Given the description of an element on the screen output the (x, y) to click on. 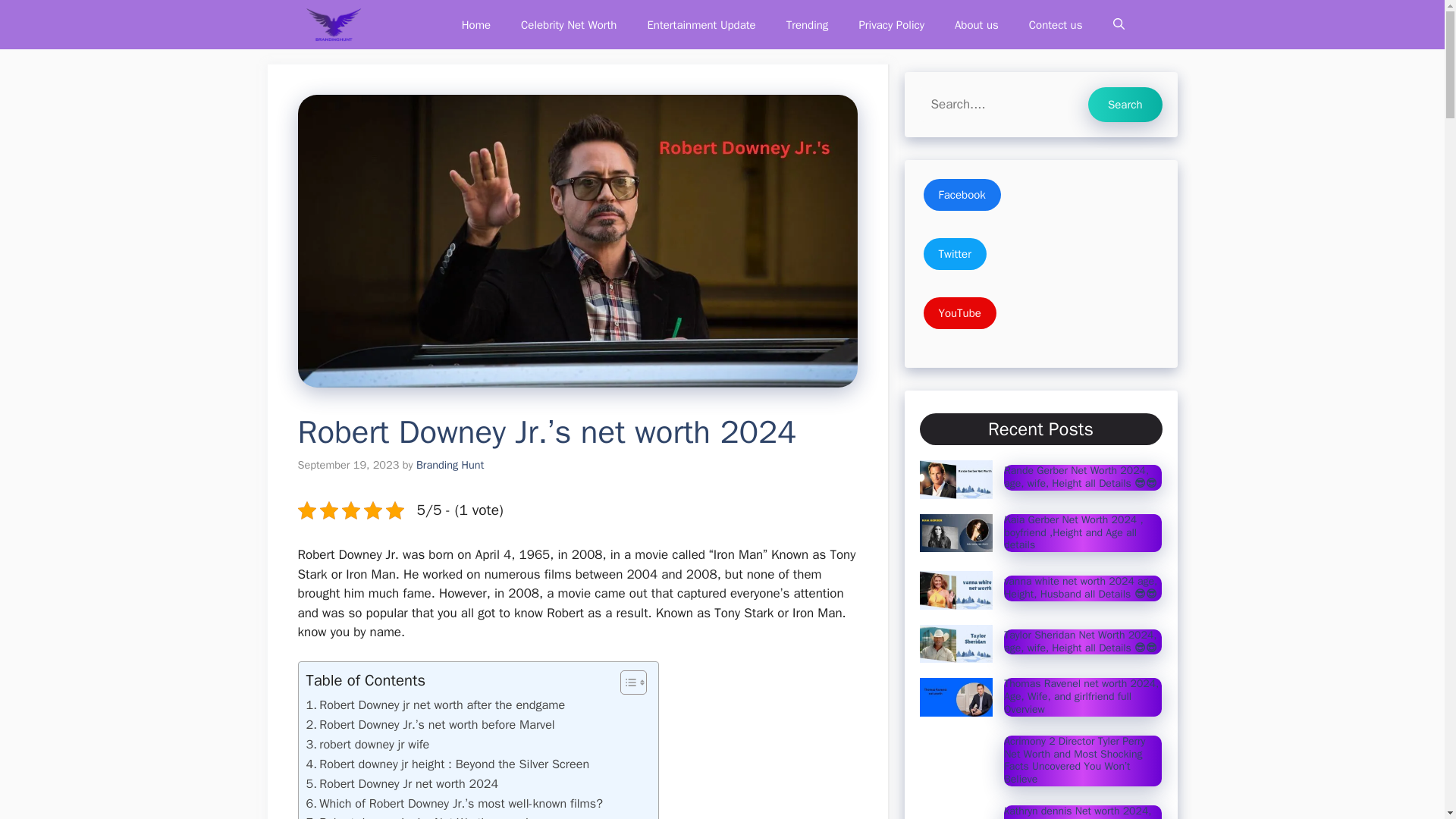
robert downey jr wife (367, 744)
Celebrity Net Worth (568, 23)
Home (475, 23)
Branding Hunt (332, 24)
Branding Hunt (449, 464)
Contect us (1055, 23)
Entertainment Update (700, 23)
Robert downey jr height : Beyond the Silver Screen (447, 763)
robert downey jr wife (367, 744)
Privacy Policy (891, 23)
Robert downey jr height : Beyond the Silver Screen (447, 763)
Trending (807, 23)
Robert Downey jr net worth after the endgame (435, 704)
About us (976, 23)
Robert Downey Jr net worth 2024 (402, 783)
